Given the description of an element on the screen output the (x, y) to click on. 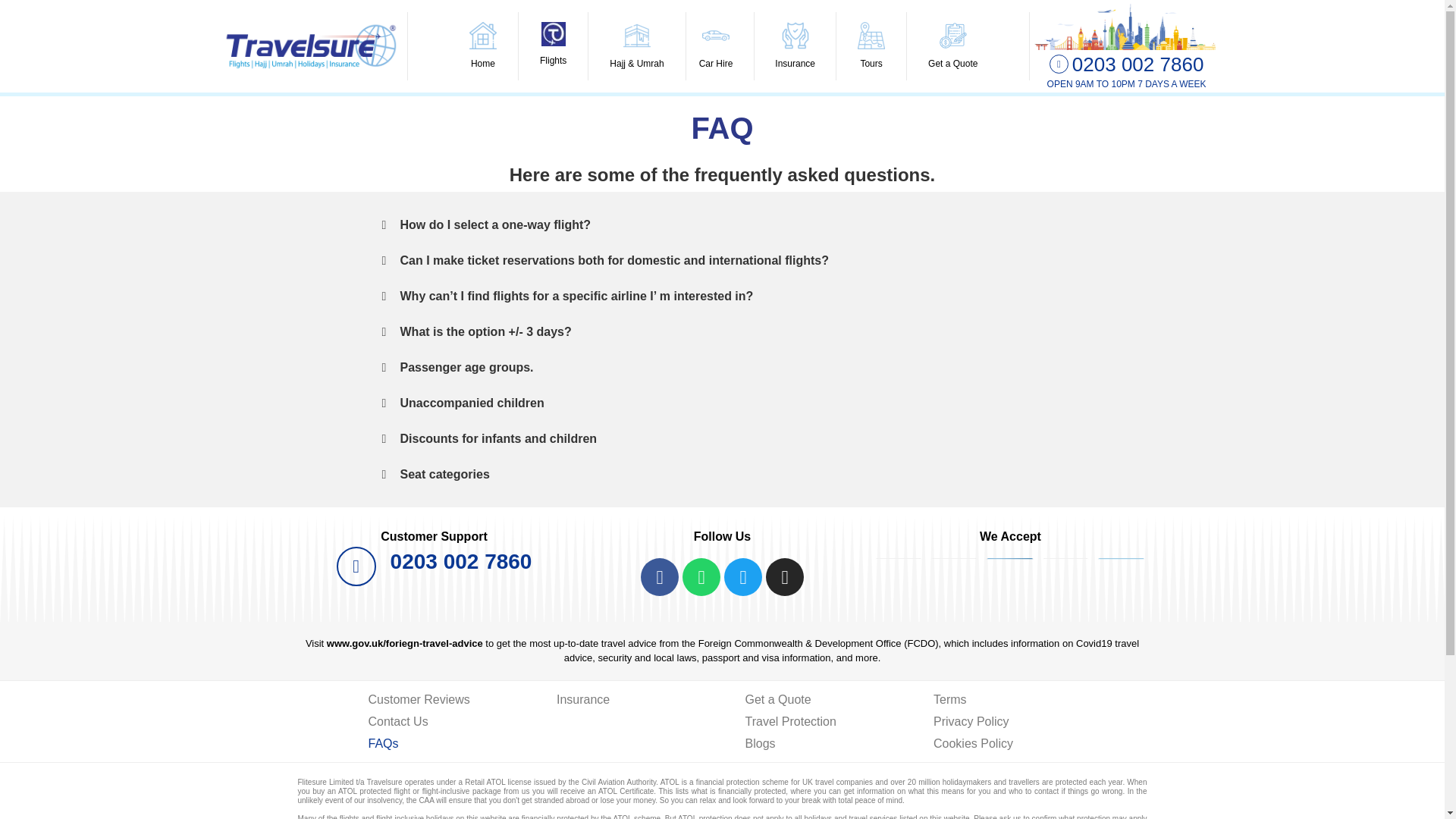
0203 002 7860 (1137, 64)
Skip to content (11, 31)
Insurance (794, 46)
Flights (553, 46)
Home (483, 46)
Tours (870, 46)
Car Hire (719, 46)
Get a Quote (947, 46)
